Given the description of an element on the screen output the (x, y) to click on. 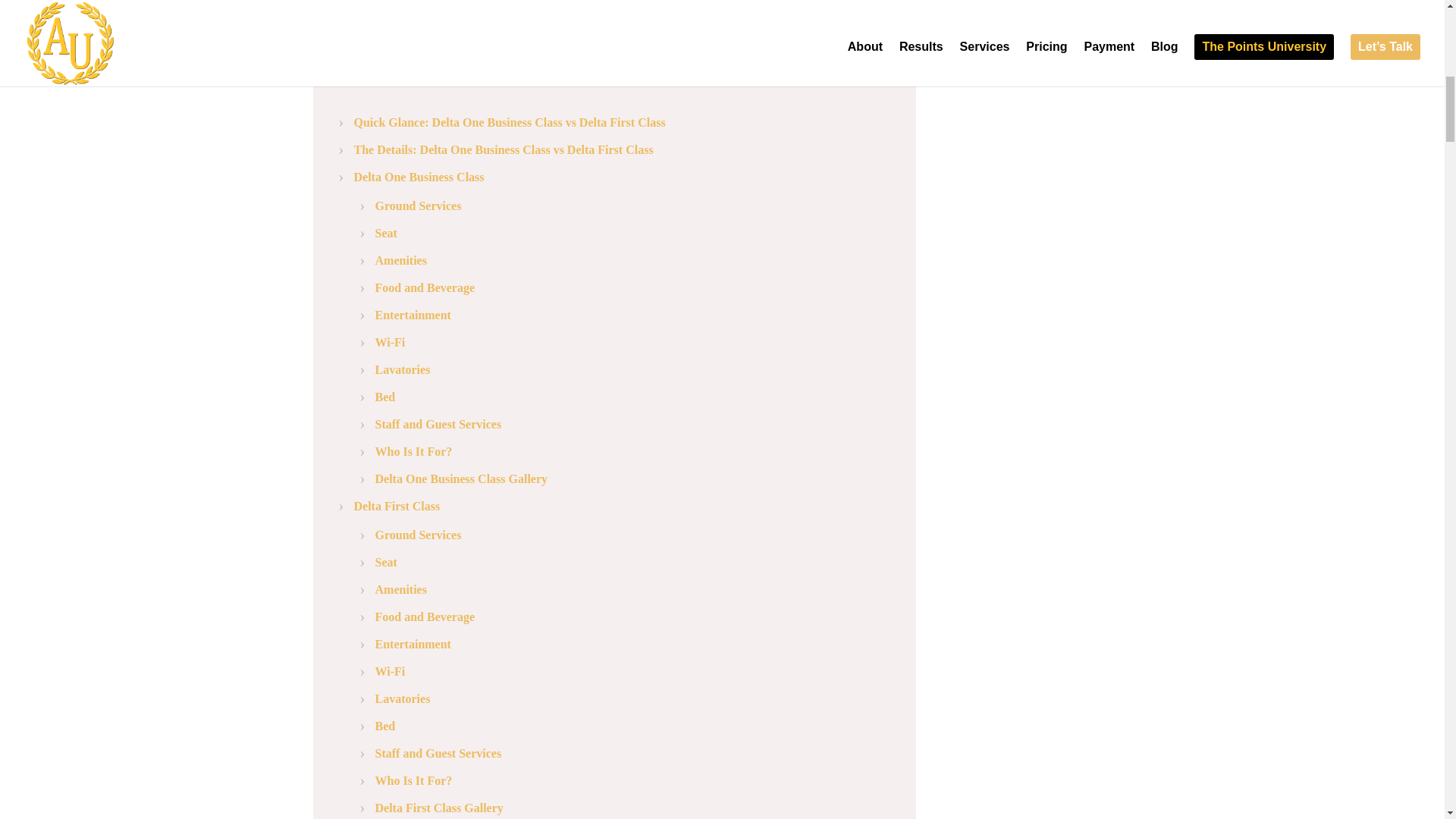
Bed (384, 396)
Delta One Business Class Gallery (460, 478)
Food and Beverage (424, 287)
Lavatories (401, 698)
Who Is It For? (412, 780)
Amenities (400, 589)
Food and Beverage (424, 616)
Staff and Guest Services (437, 753)
Staff and Guest Services (437, 423)
Entertainment  (413, 644)
